Given the description of an element on the screen output the (x, y) to click on. 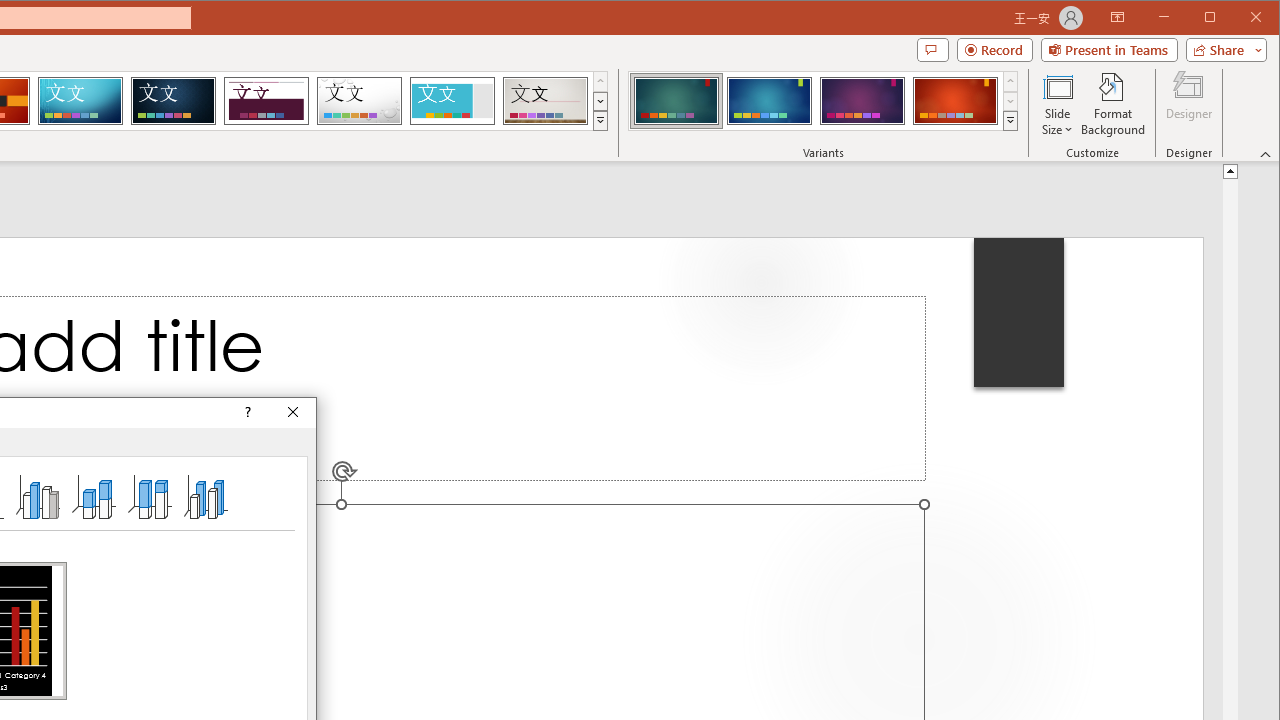
3-D Clustered Column (38, 496)
Dividend (266, 100)
Damask (173, 100)
Slide Size (1057, 104)
